Given the description of an element on the screen output the (x, y) to click on. 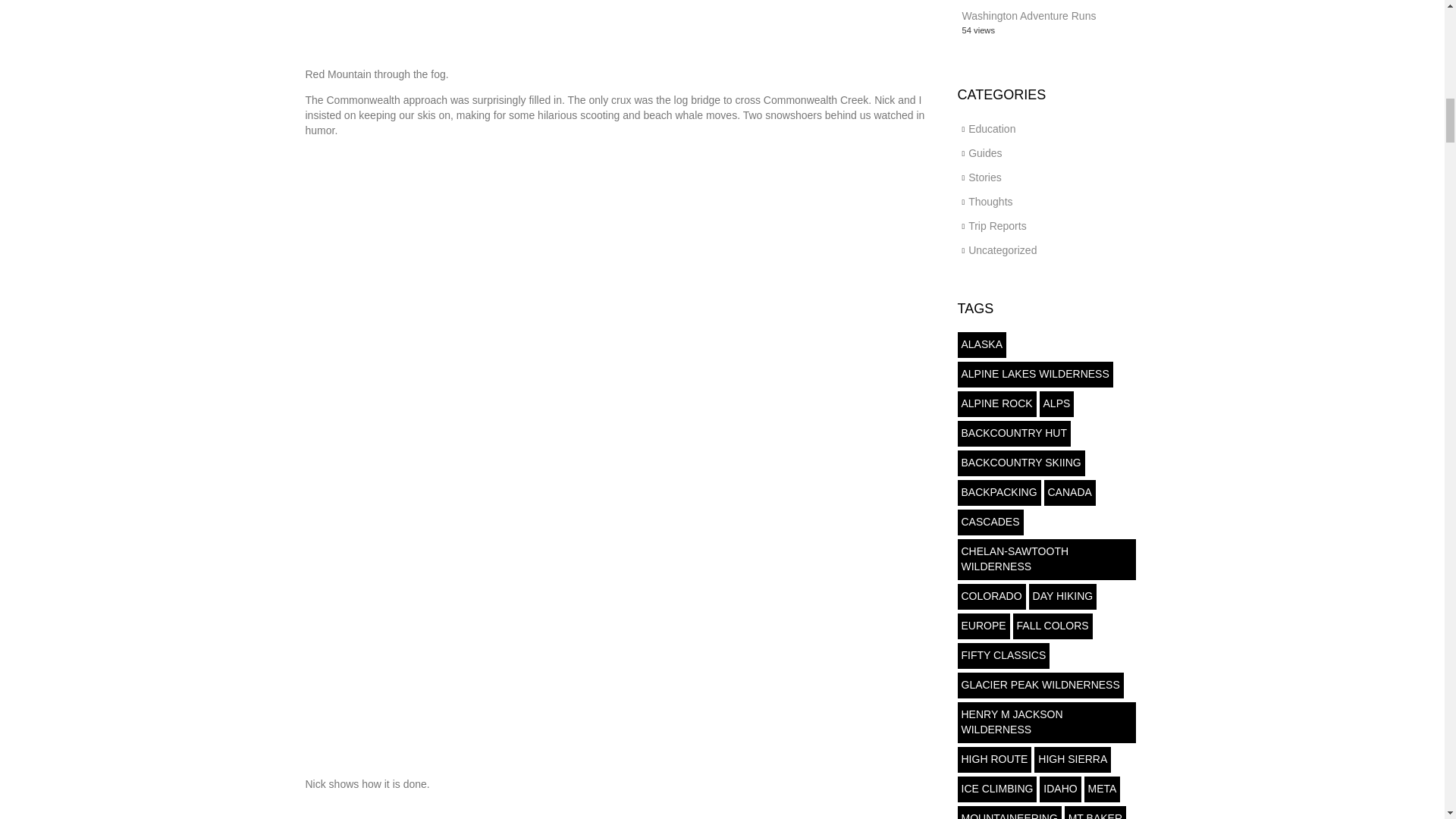
Education (991, 128)
Washington Adventure Runs (1028, 15)
